Given the description of an element on the screen output the (x, y) to click on. 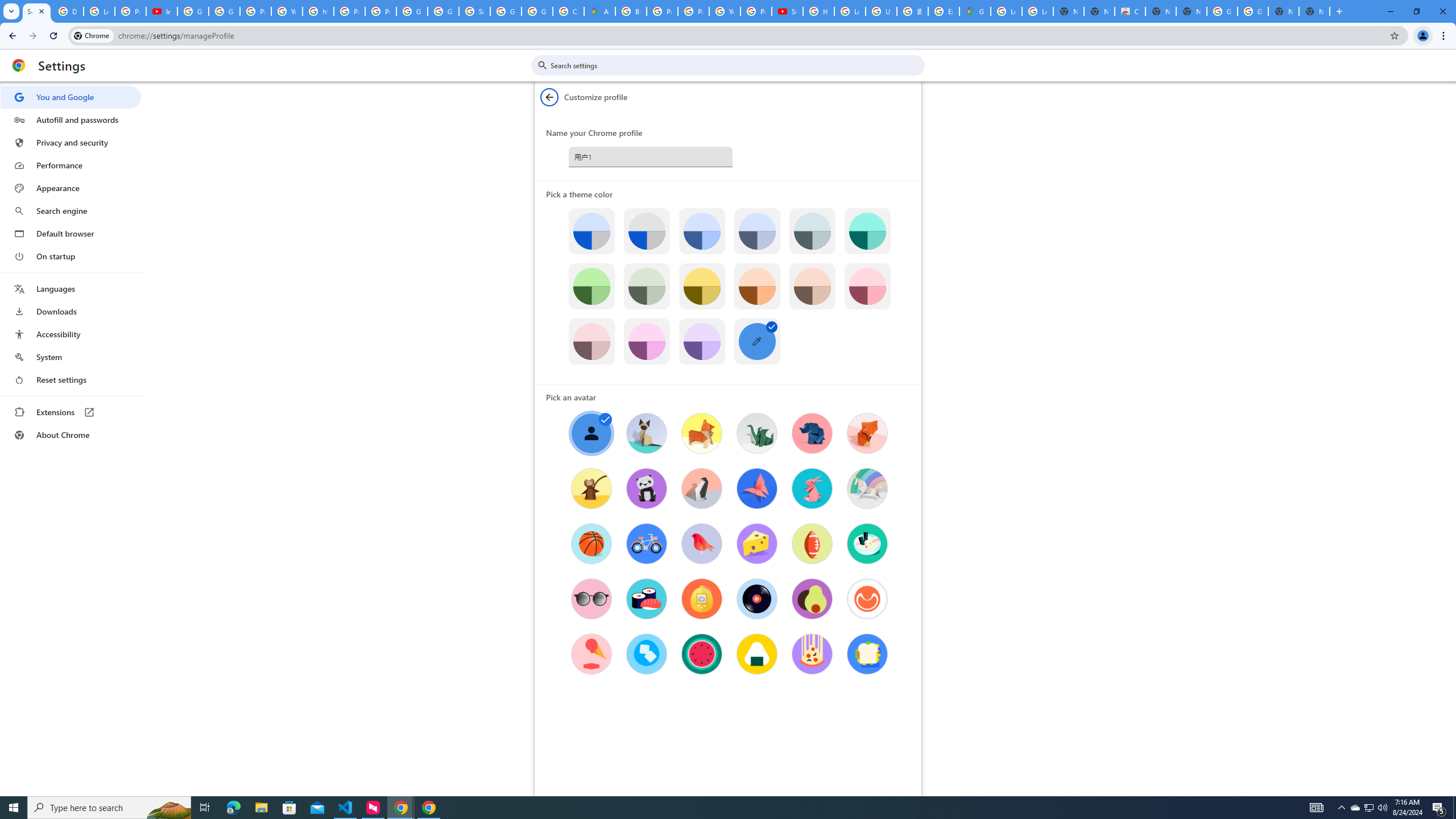
Search settings (735, 65)
Google Maps (974, 11)
Performance (70, 164)
Google Account Help (192, 11)
AutomationID: menu (71, 265)
You and Google (70, 96)
